Given the description of an element on the screen output the (x, y) to click on. 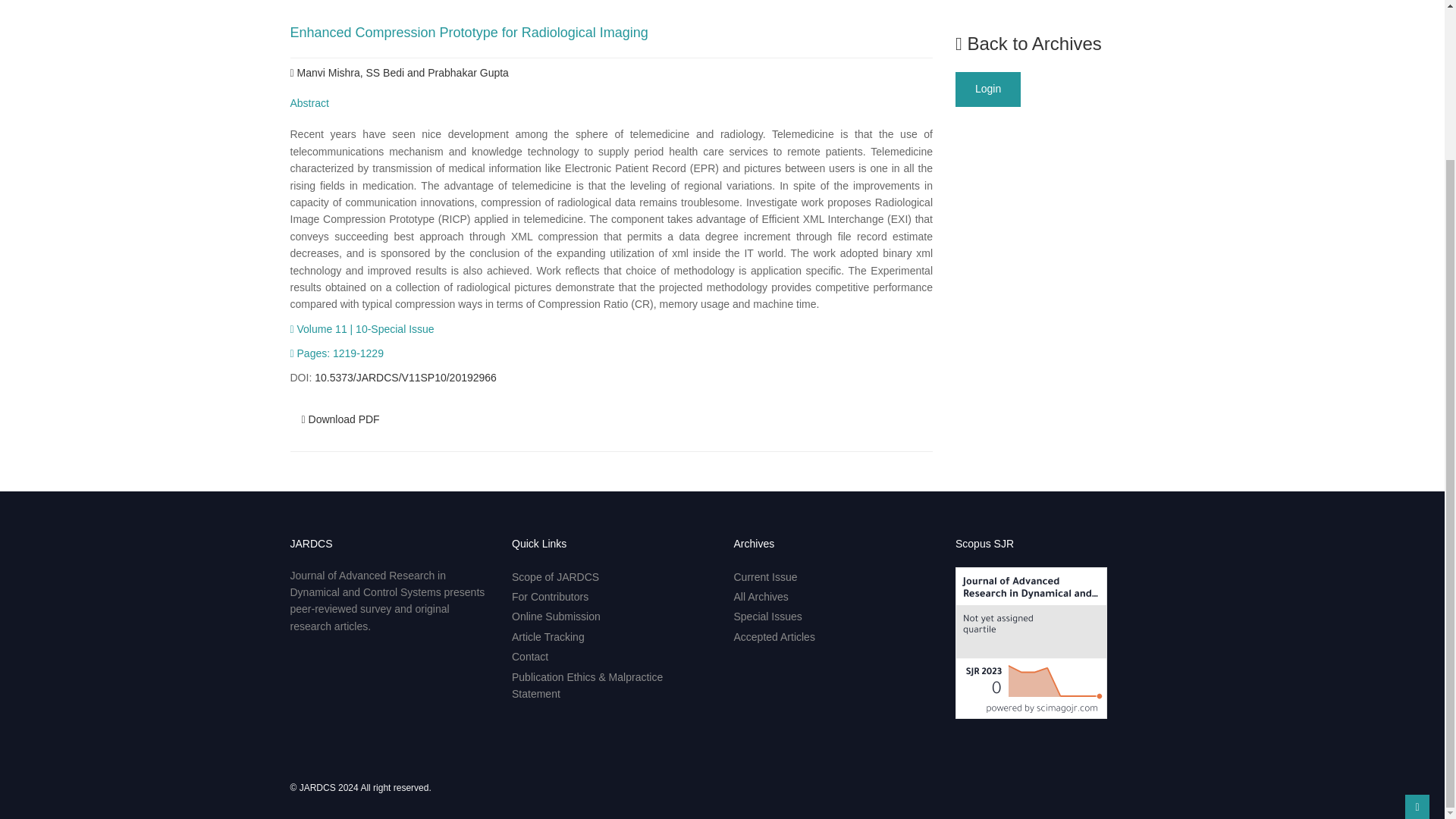
All Archives (761, 596)
Accepted Articles (774, 636)
Login (987, 89)
Scope of JARDCS (555, 576)
Current Issue (765, 576)
Special Issues (767, 616)
Download PDF (340, 419)
Online Submission (555, 616)
Article Tracking (548, 636)
For Contributors (550, 596)
Contact (530, 656)
Back to Archives (1028, 43)
